Given the description of an element on the screen output the (x, y) to click on. 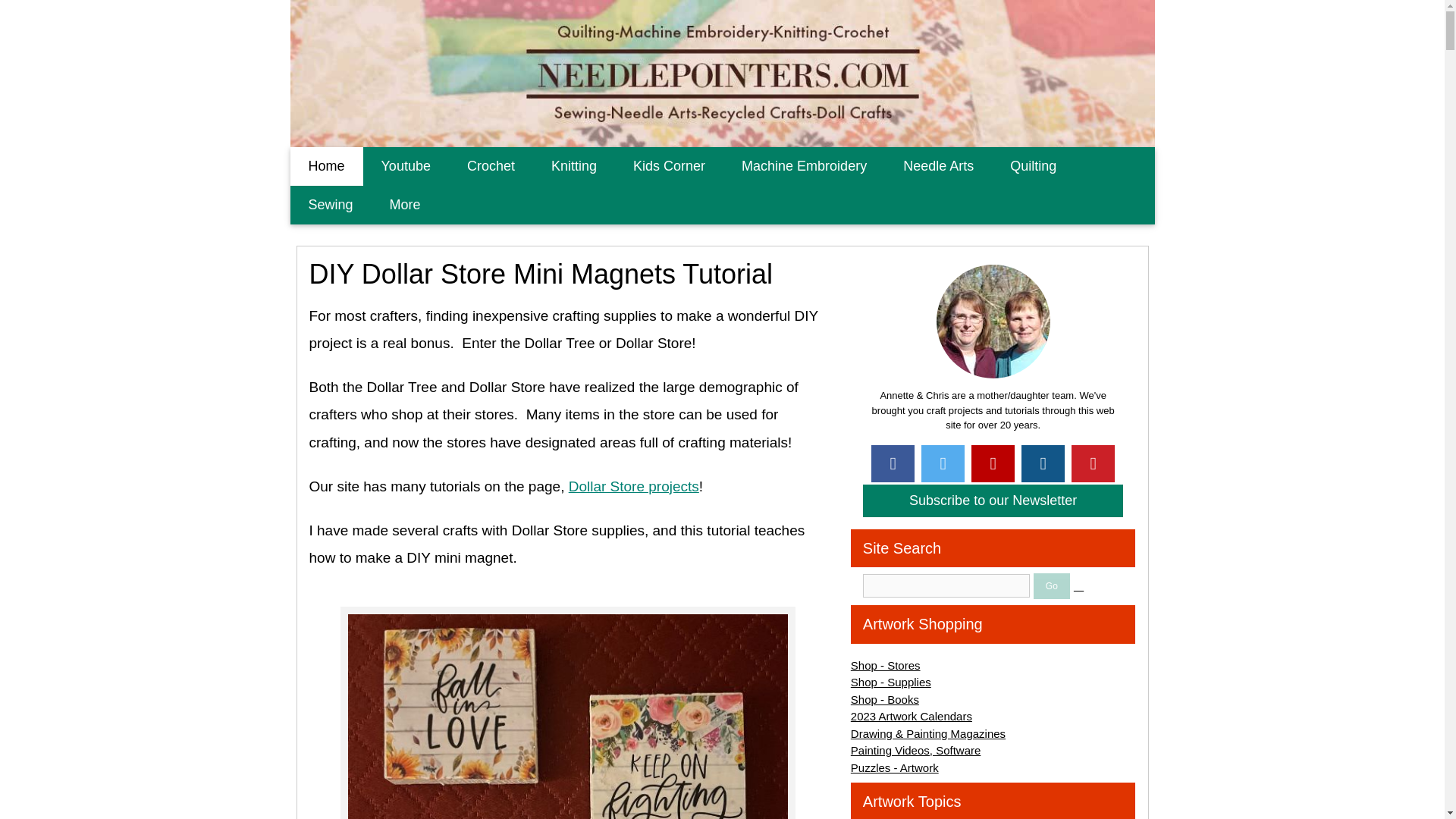
Quilting (1032, 166)
Youtube (405, 166)
Home (325, 166)
Knitting (573, 166)
Log In (1078, 586)
Machine Embroidery (804, 166)
Kids Corner (668, 166)
Crochet (490, 166)
Go (1051, 585)
Needle Arts (938, 166)
Sewing (330, 204)
More (405, 204)
